Given the description of an element on the screen output the (x, y) to click on. 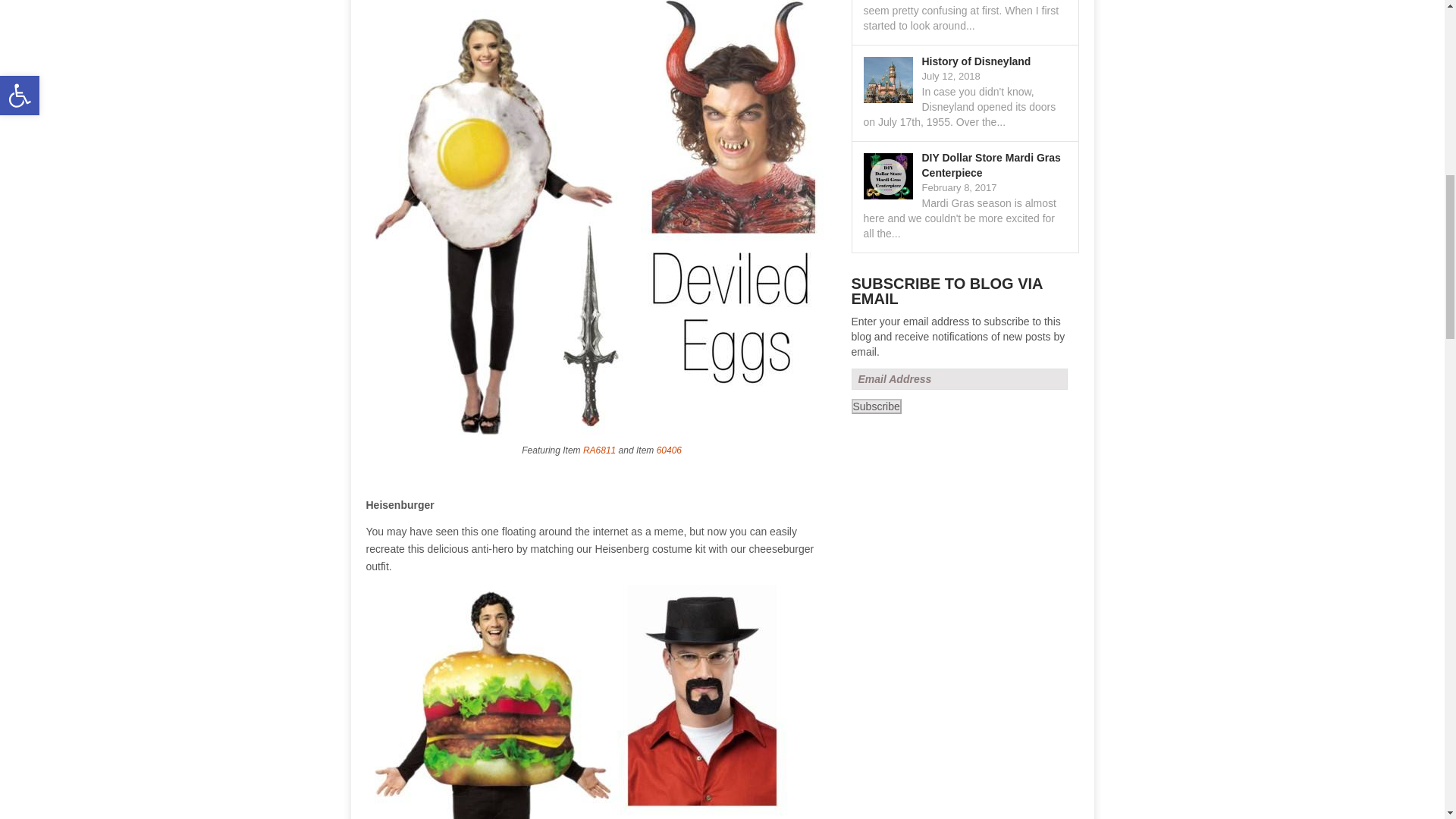
RA6811 (599, 450)
60406 (668, 450)
Subscribe (875, 406)
